Given the description of an element on the screen output the (x, y) to click on. 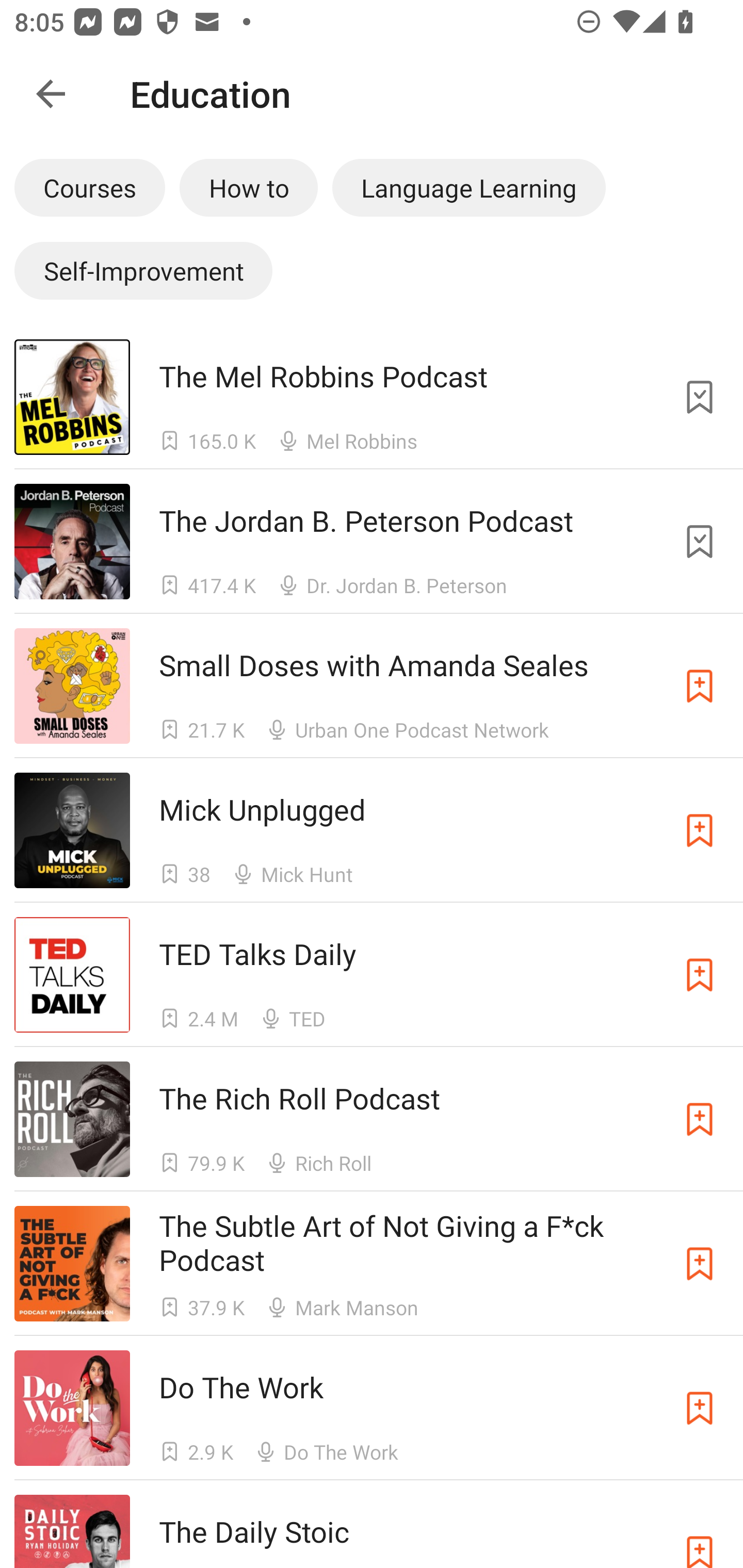
Navigate up (50, 93)
Courses (89, 187)
How to (248, 187)
Language Learning (468, 187)
Self-Improvement (143, 270)
Unsubscribe (699, 396)
Unsubscribe (699, 541)
Subscribe (699, 685)
Subscribe (699, 830)
Subscribe (699, 975)
Subscribe (699, 1119)
Subscribe (699, 1263)
Subscribe (699, 1408)
The Daily Stoic The Daily Stoic Subscribe (371, 1524)
Subscribe (699, 1531)
